Given the description of an element on the screen output the (x, y) to click on. 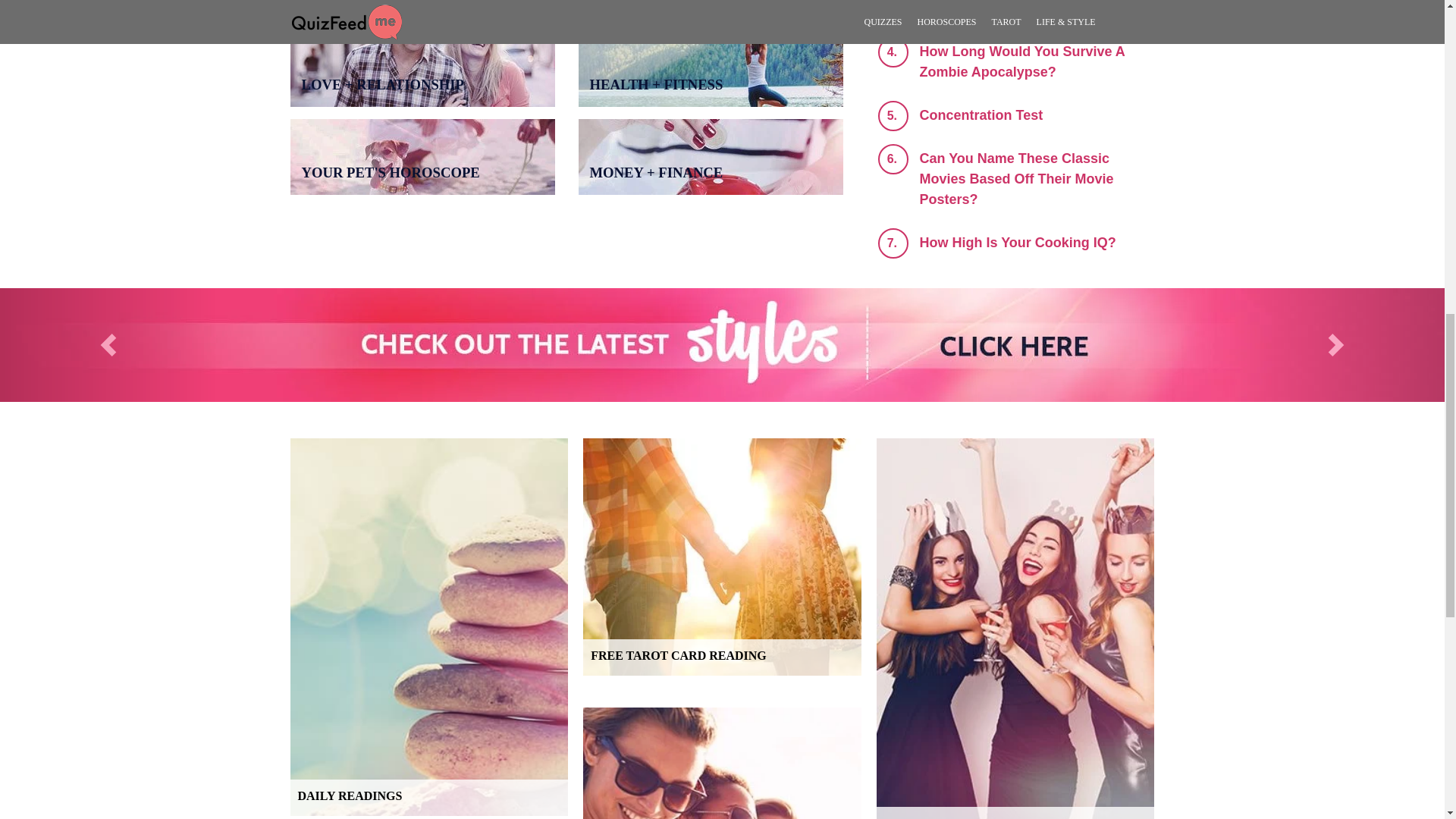
How Healthy Are You? (991, 7)
Concentration Test (980, 114)
How Long Would You Survive A Zombie Apocalypse? (1021, 61)
How High Is Your Cooking IQ? (428, 627)
Previous (1016, 242)
YOUR PET'S HOROSCOPE (108, 345)
